Given the description of an element on the screen output the (x, y) to click on. 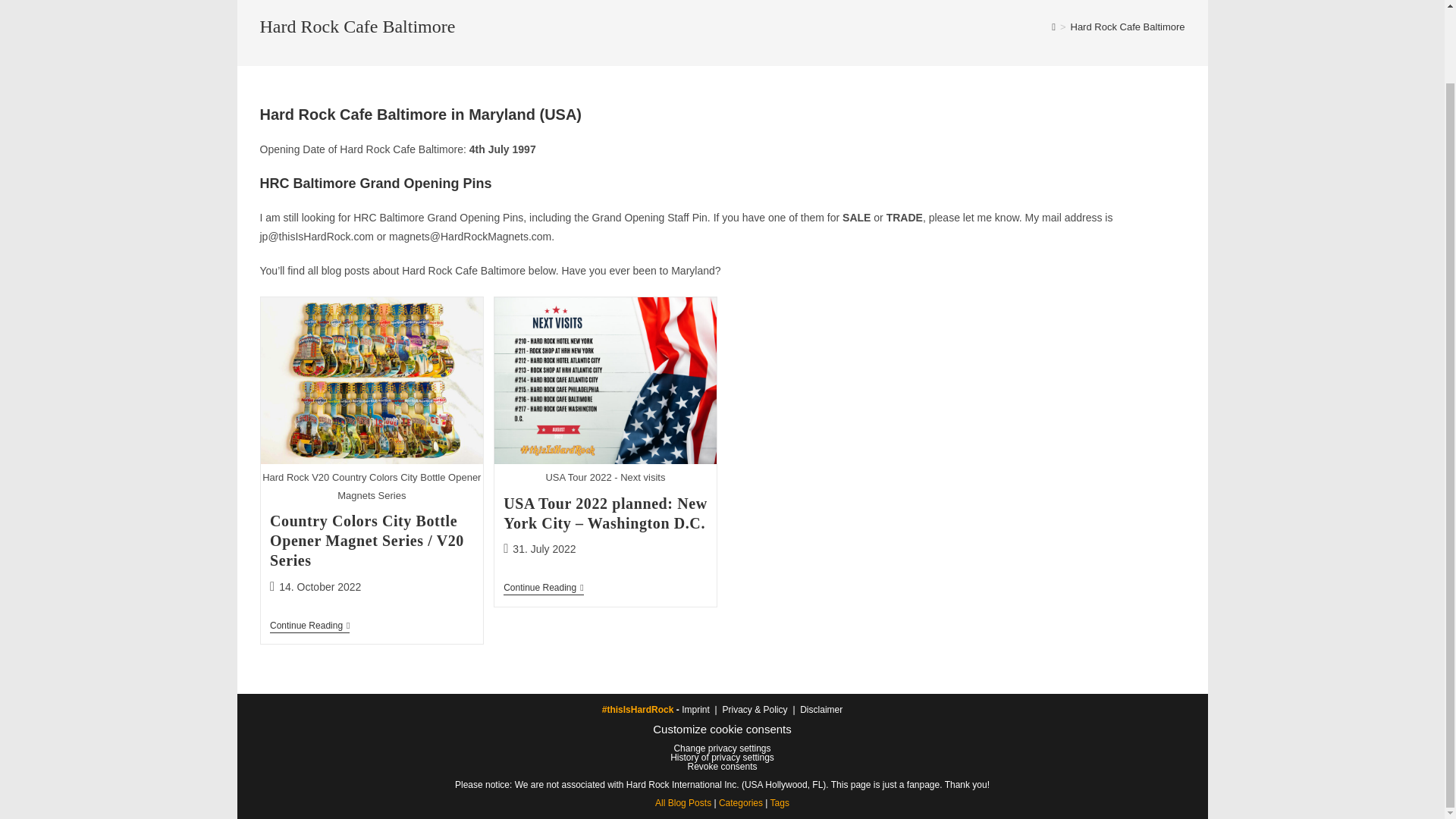
Change privacy settings (721, 747)
Revoke consents (722, 766)
All Blog Posts (683, 802)
Categories (740, 802)
Hard Rock Cafe Baltimore (1127, 26)
History of privacy settings (721, 757)
Disclaimer (821, 709)
